Given the description of an element on the screen output the (x, y) to click on. 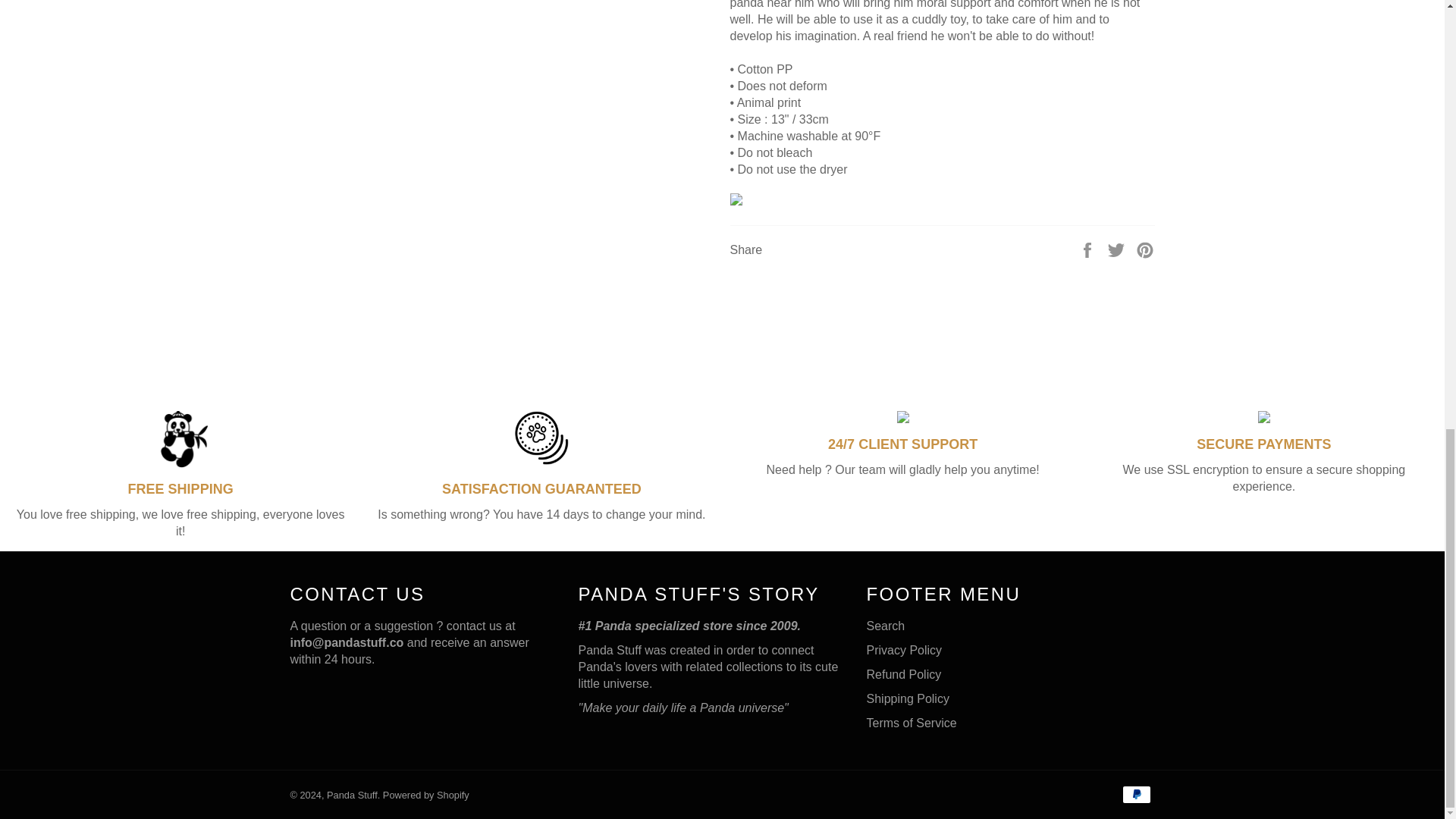
Tweet on Twitter (1117, 249)
Pin on Pinterest (1144, 249)
Share on Facebook (1088, 249)
